Given the description of an element on the screen output the (x, y) to click on. 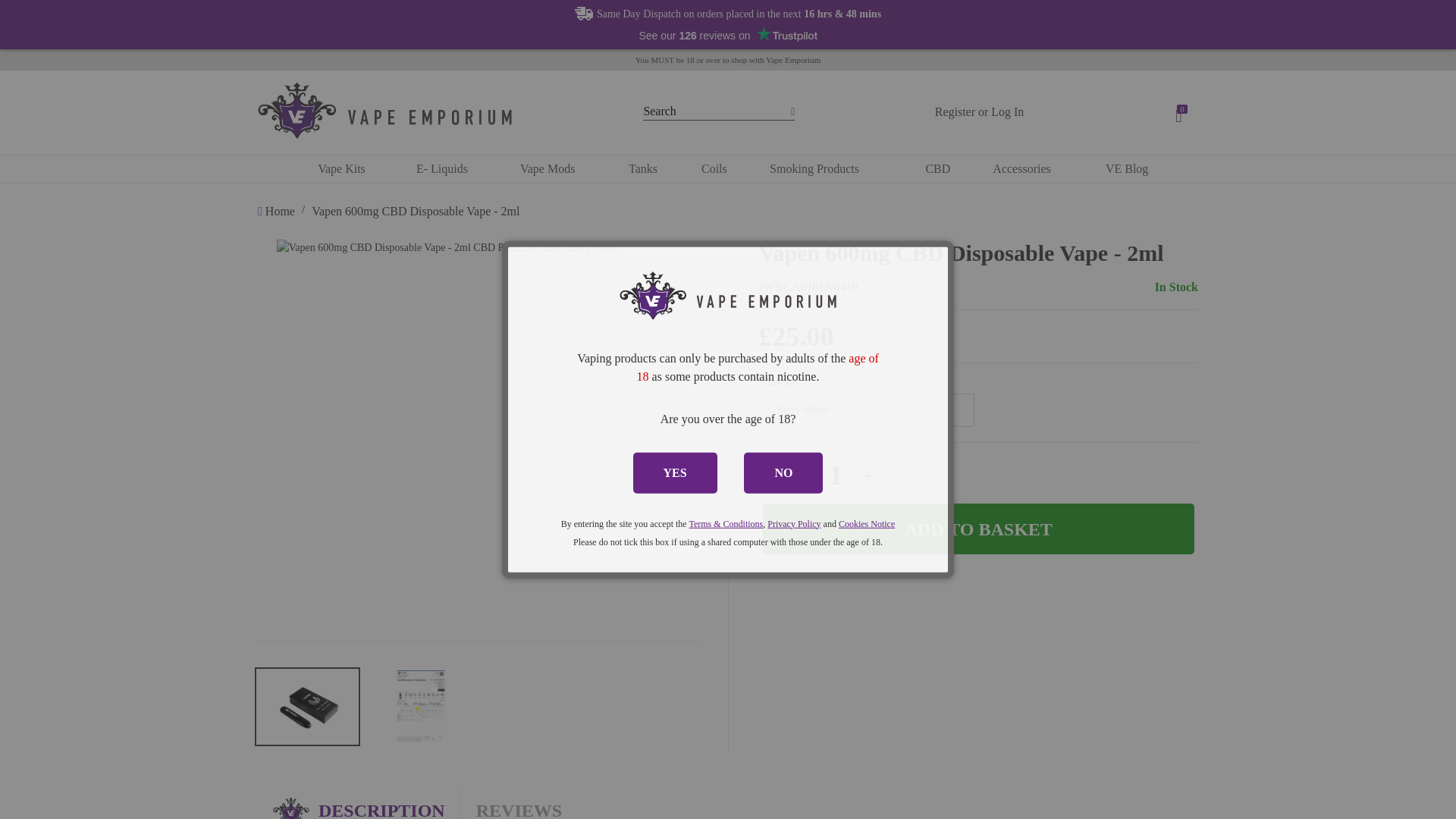
Vape Kits (341, 168)
1 (835, 475)
Register (954, 111)
Customer reviews powered by Trustpilot (727, 35)
Go to Home Page (277, 210)
Log In (1007, 111)
Qty (835, 475)
E- Liquids (442, 168)
0 (1181, 112)
